Given the description of an element on the screen output the (x, y) to click on. 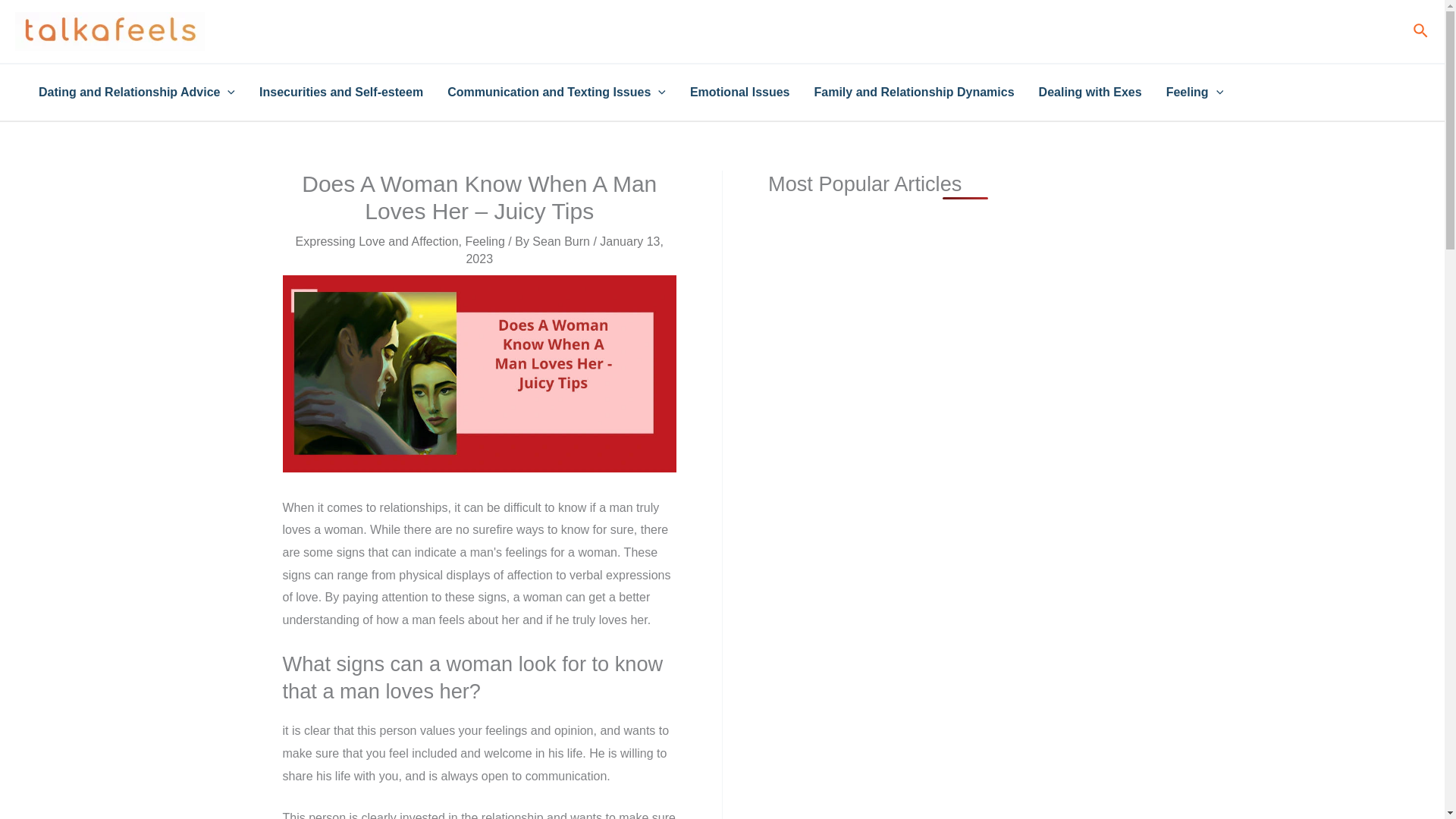
Expressing Love and Affection (376, 241)
Communication and Texting Issues (556, 92)
Sean Burn (562, 241)
Emotional Issues (740, 92)
Feeling (483, 241)
Feeling (1195, 92)
Dating and Relationship Advice (136, 92)
Family and Relationship Dynamics (914, 92)
View all posts by Sean Burn (562, 241)
Insecurities and Self-esteem (341, 92)
Dealing with Exes (1090, 92)
